Given the description of an element on the screen output the (x, y) to click on. 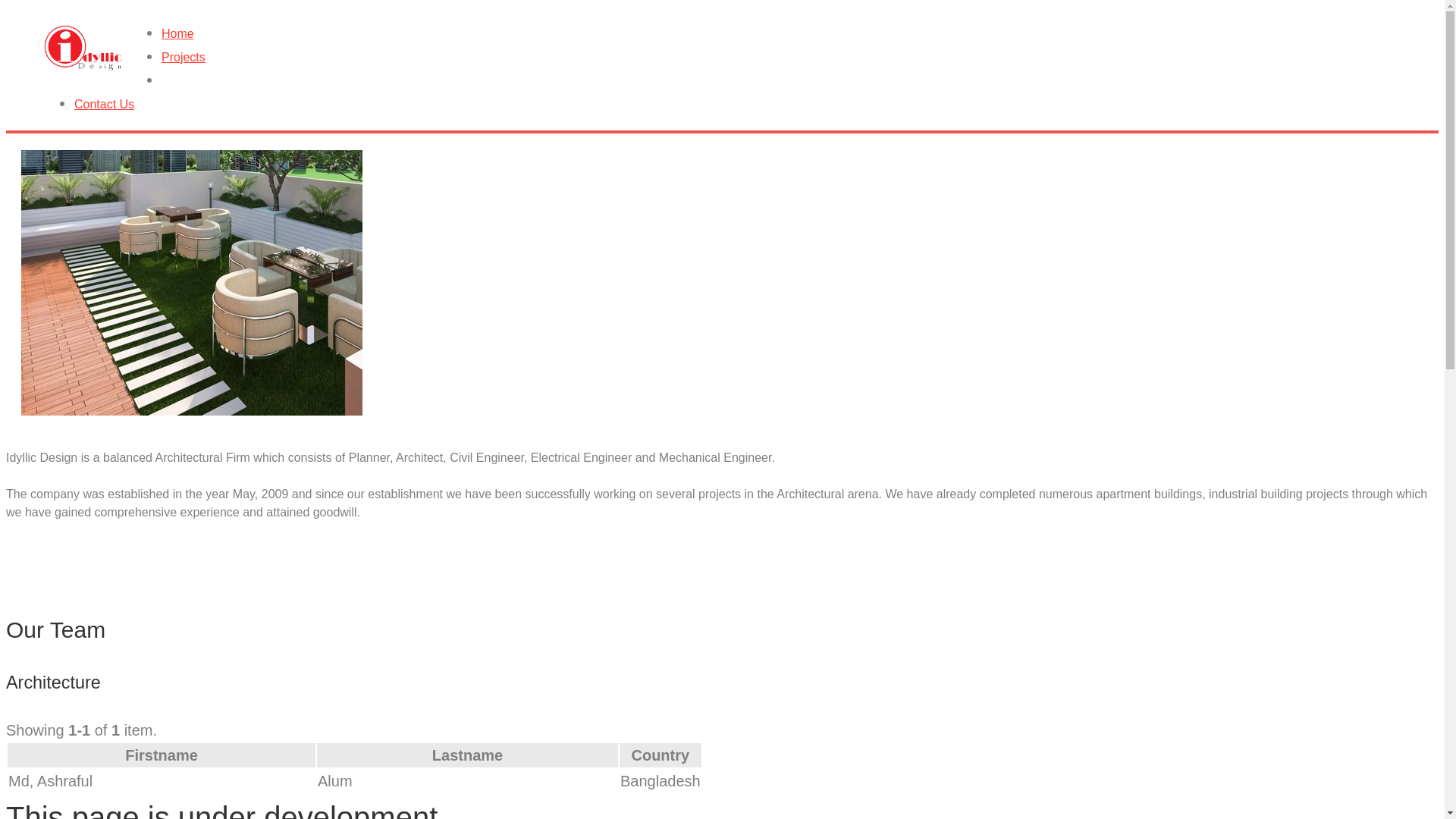
Home Element type: text (737, 34)
Md, Ashraful Alum Bangladesh Element type: text (354, 780)
Contact Us Element type: text (737, 105)
About Us Element type: text (737, 81)
Projects Element type: text (737, 58)
